Given the description of an element on the screen output the (x, y) to click on. 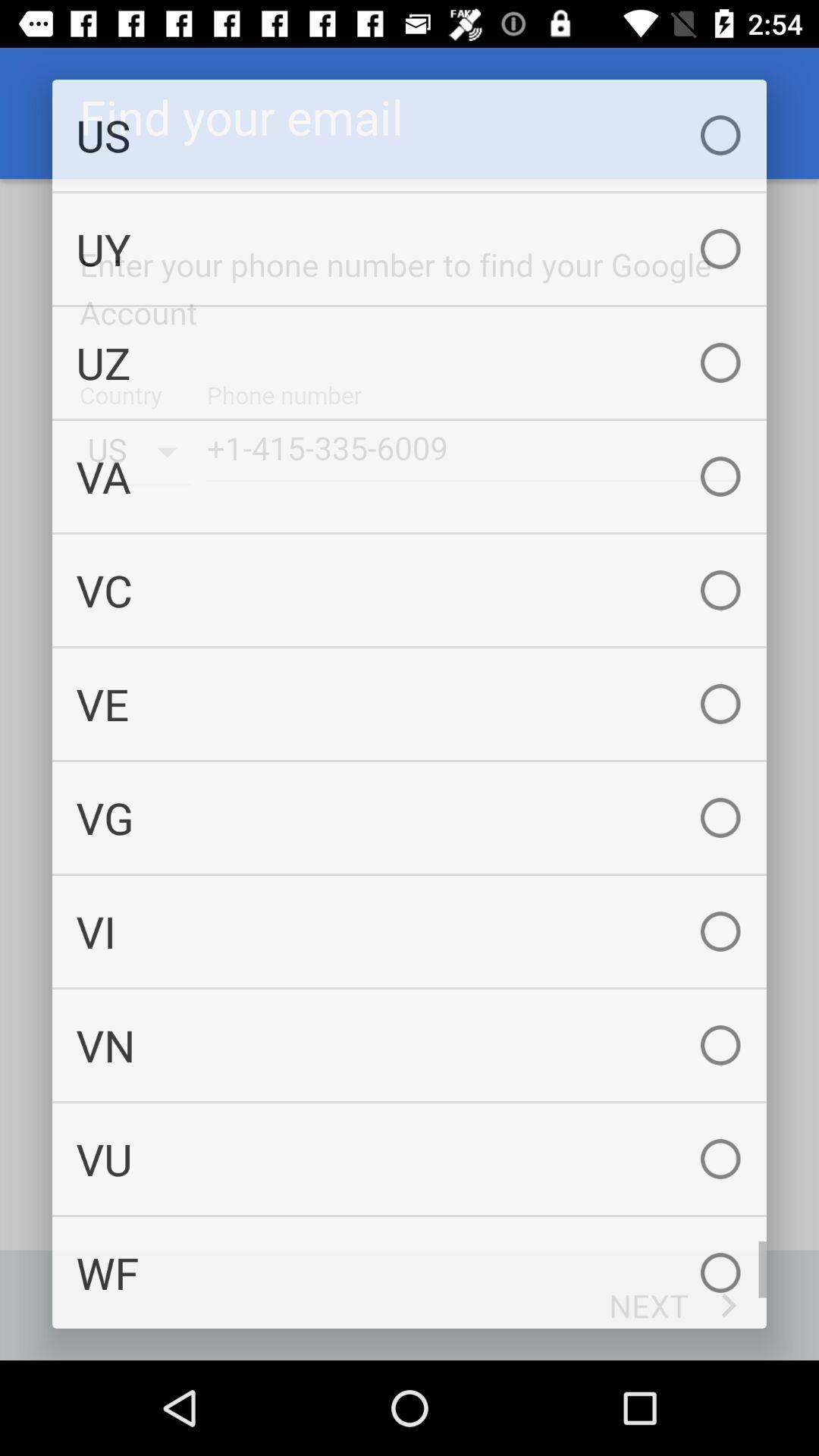
click the vn item (409, 1045)
